Given the description of an element on the screen output the (x, y) to click on. 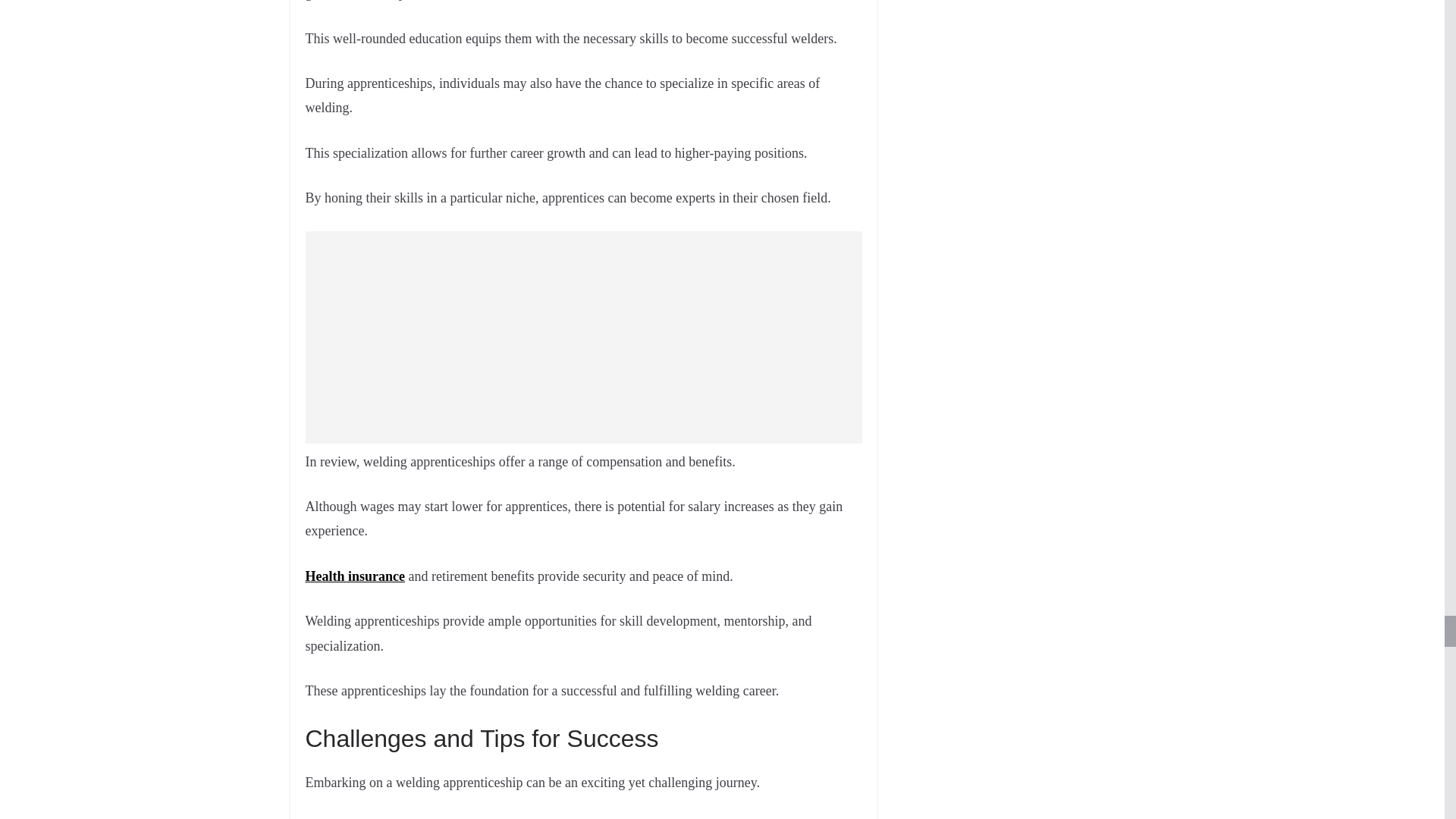
Health insurance (354, 575)
